Given the description of an element on the screen output the (x, y) to click on. 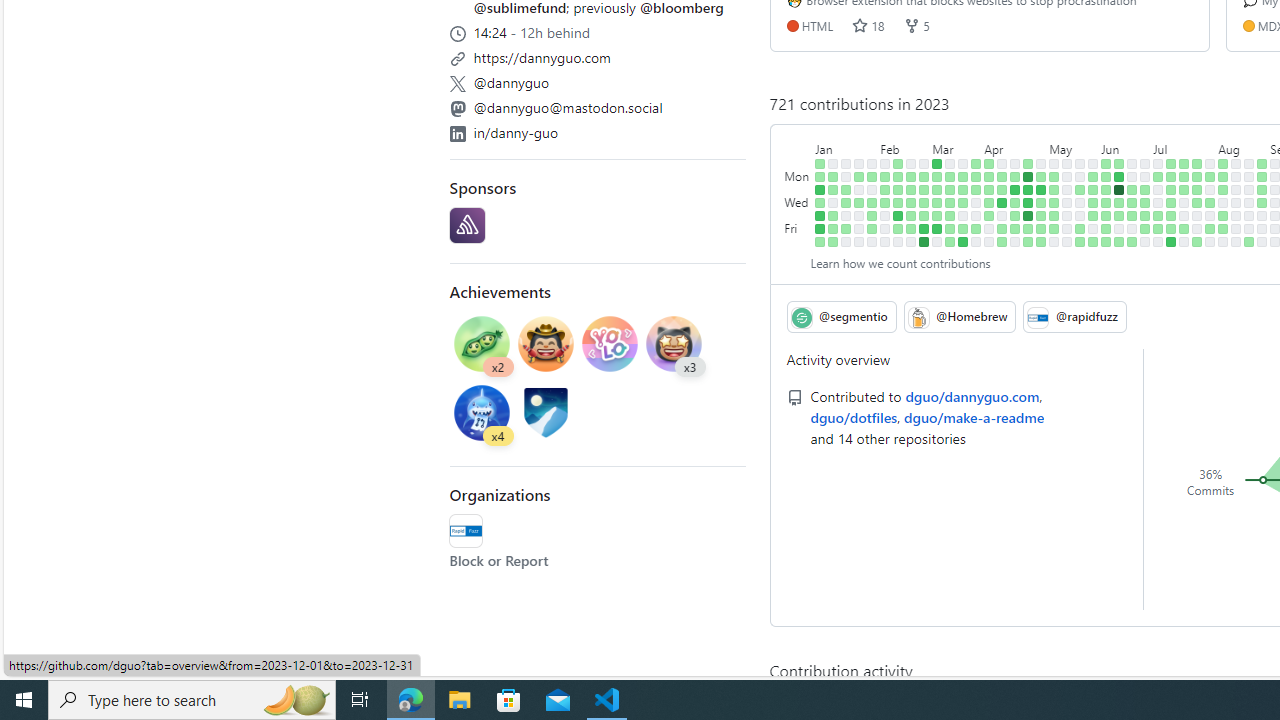
9 contributions on April 18th. (1015, 189)
No contributions on March 19th. (962, 163)
6 contributions on March 15th. (950, 202)
No contributions on January 11th. (833, 202)
No contributions on January 22nd. (859, 163)
5 contributions on May 3rd. (1041, 202)
25 contributions on April 24th. (1028, 176)
2 contributions on March 13th. (950, 176)
Achievement: Pull Shark x4 (481, 415)
5 contributions on February 21st. (911, 189)
2 contributions on April 3rd. (989, 176)
@dannyguo (597, 79)
1 contribution on June 21st. (1131, 202)
No contributions on August 5th. (1210, 241)
6 contributions on February 15th. (898, 202)
